Given the description of an element on the screen output the (x, y) to click on. 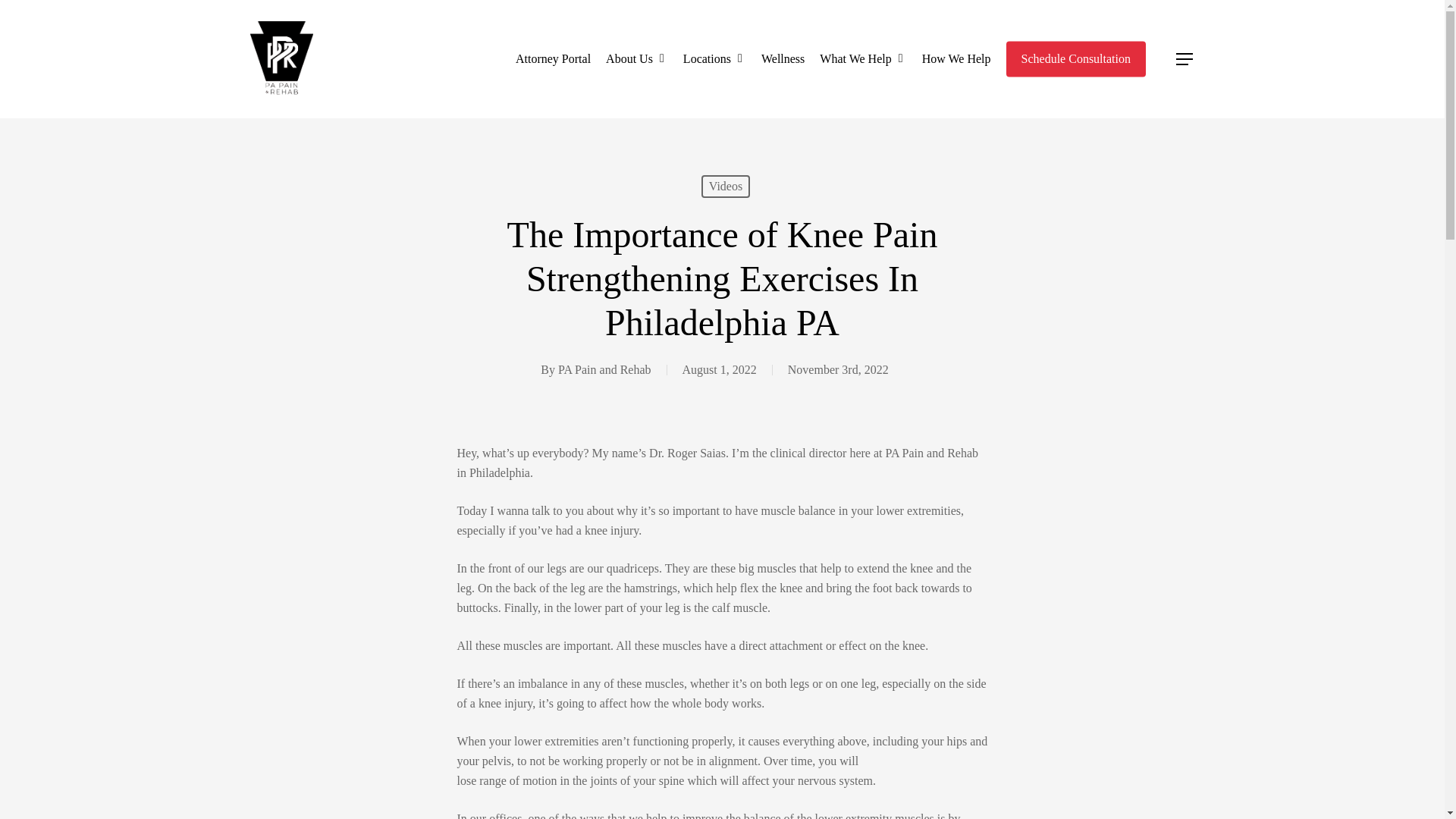
Wellness (783, 58)
How We Help (956, 58)
Schedule Consultation (1075, 58)
Locations (714, 58)
PA Pain and Rehab (603, 369)
What We Help (863, 58)
About Us (636, 58)
Videos (725, 186)
Posts by PA Pain and Rehab (603, 369)
Menu (1184, 59)
